Given the description of an element on the screen output the (x, y) to click on. 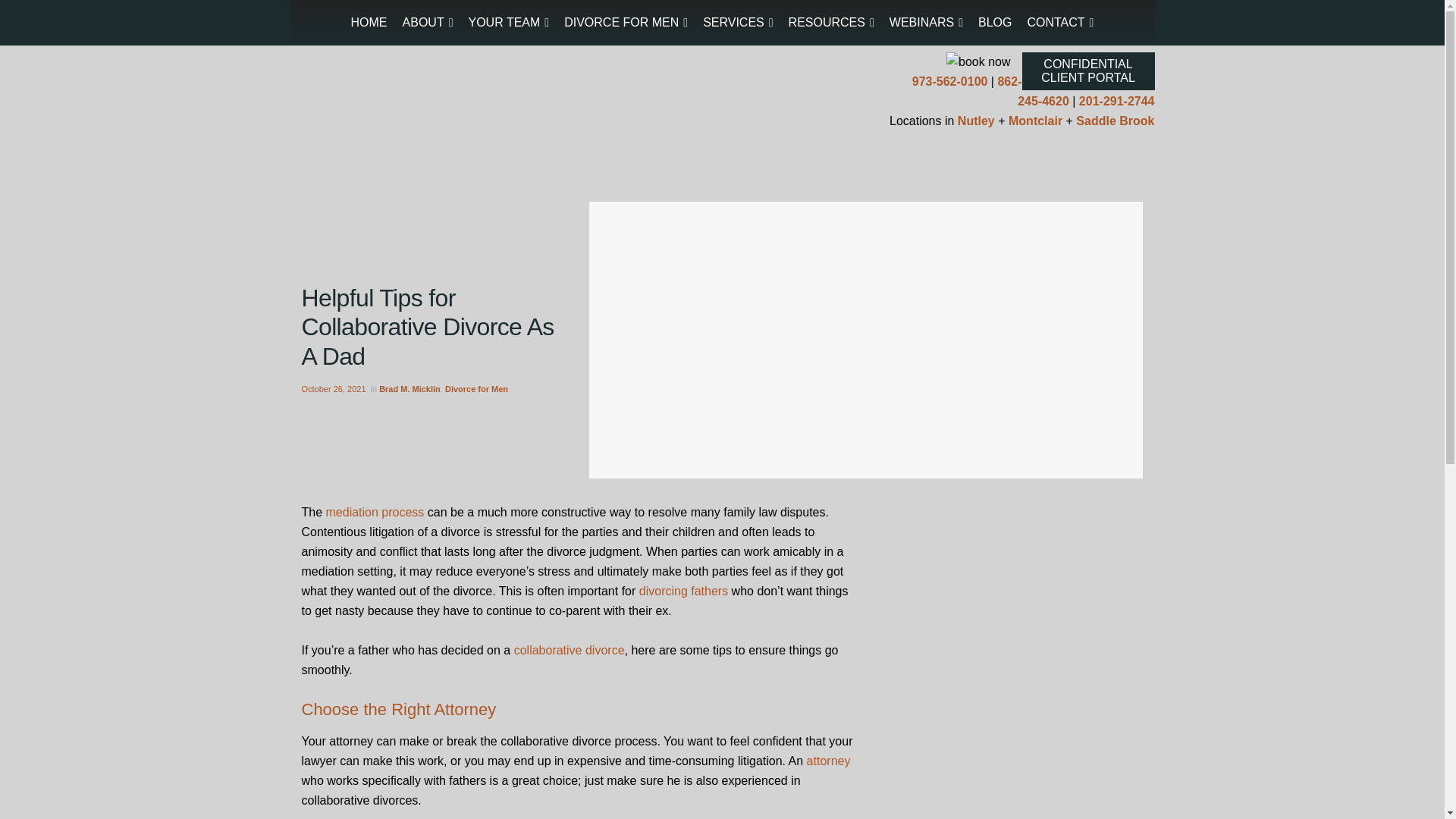
Confidential Client Portal (1088, 71)
SERVICES (737, 22)
DIVORCE FOR MEN (625, 22)
ABOUT (427, 22)
HOME (368, 22)
YOUR TEAM (509, 22)
